Given the description of an element on the screen output the (x, y) to click on. 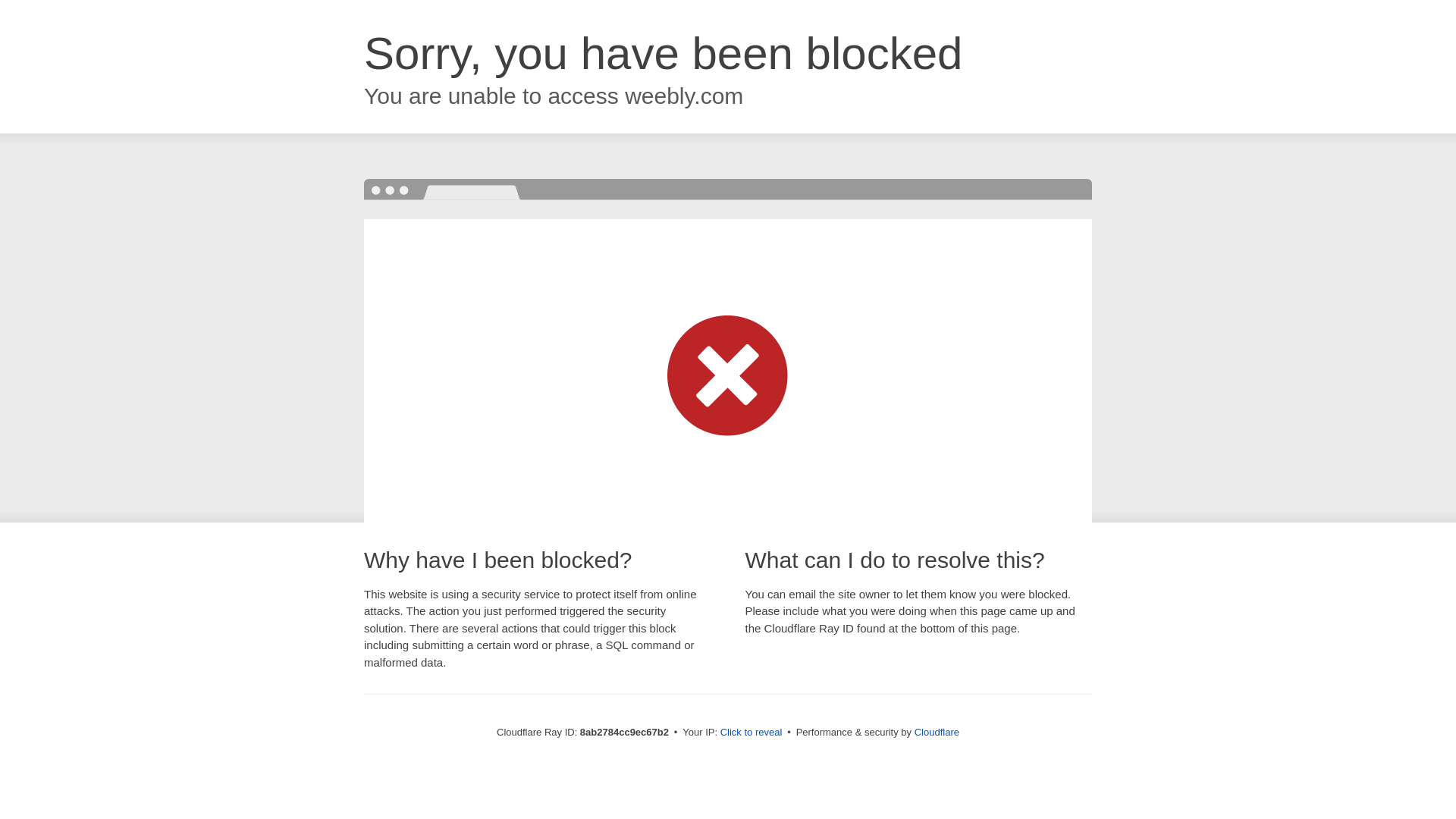
Click to reveal (751, 732)
Cloudflare (936, 731)
